Given the description of an element on the screen output the (x, y) to click on. 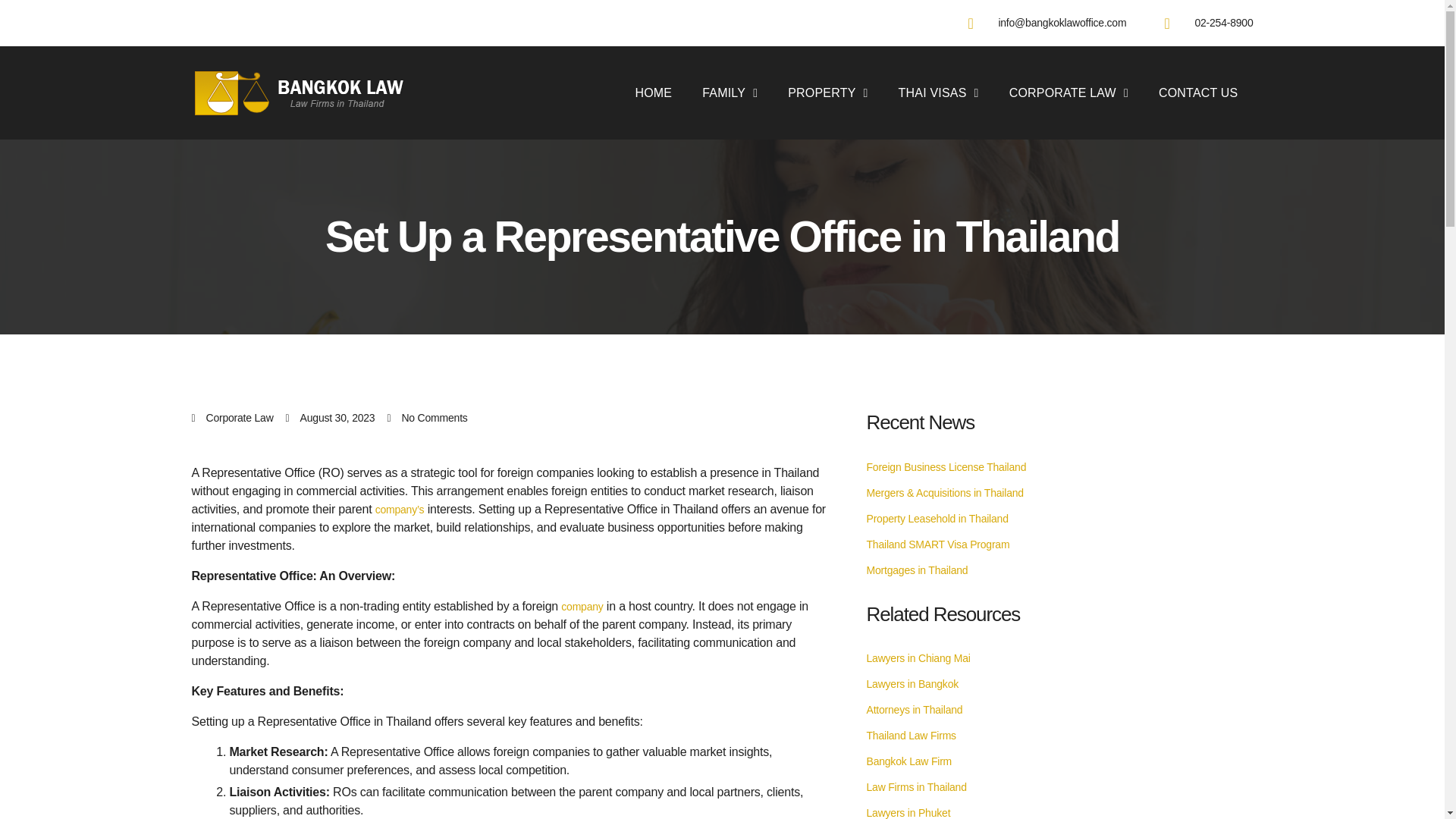
CORPORATE LAW (1068, 93)
CONTACT US (1197, 93)
FAMILY (730, 93)
THAI VISAS (938, 93)
PROPERTY (827, 93)
02-254-8900 (1207, 23)
HOME (653, 93)
